Given the description of an element on the screen output the (x, y) to click on. 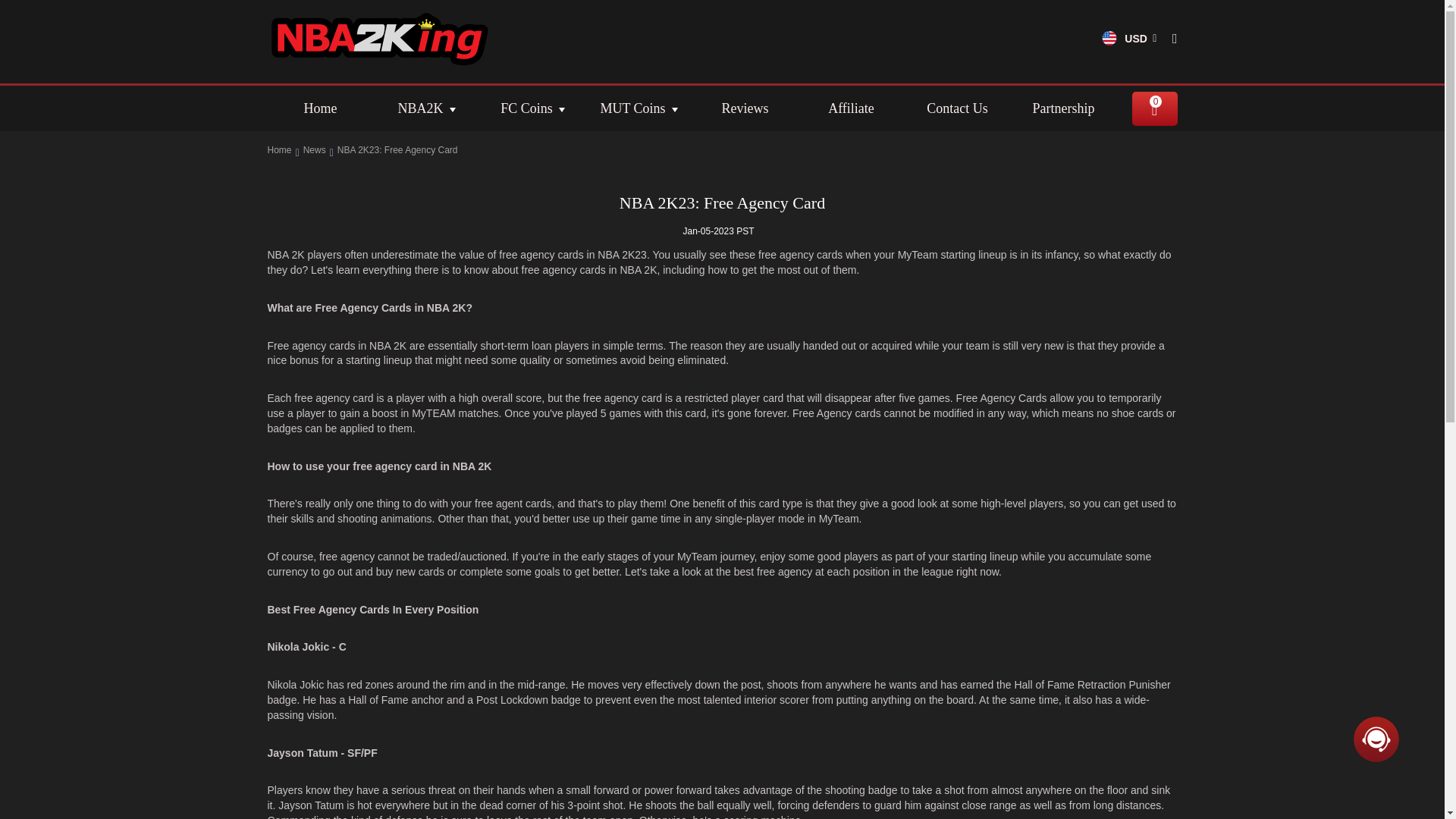
News (314, 149)
NBA 2K23: Free Agency Card (397, 149)
Home (278, 149)
Partnership (1063, 108)
Home (319, 108)
Contact Us (957, 108)
NBA 2K23: Free Agency Card (721, 202)
Reviews (744, 108)
Affiliate (850, 108)
